Given the description of an element on the screen output the (x, y) to click on. 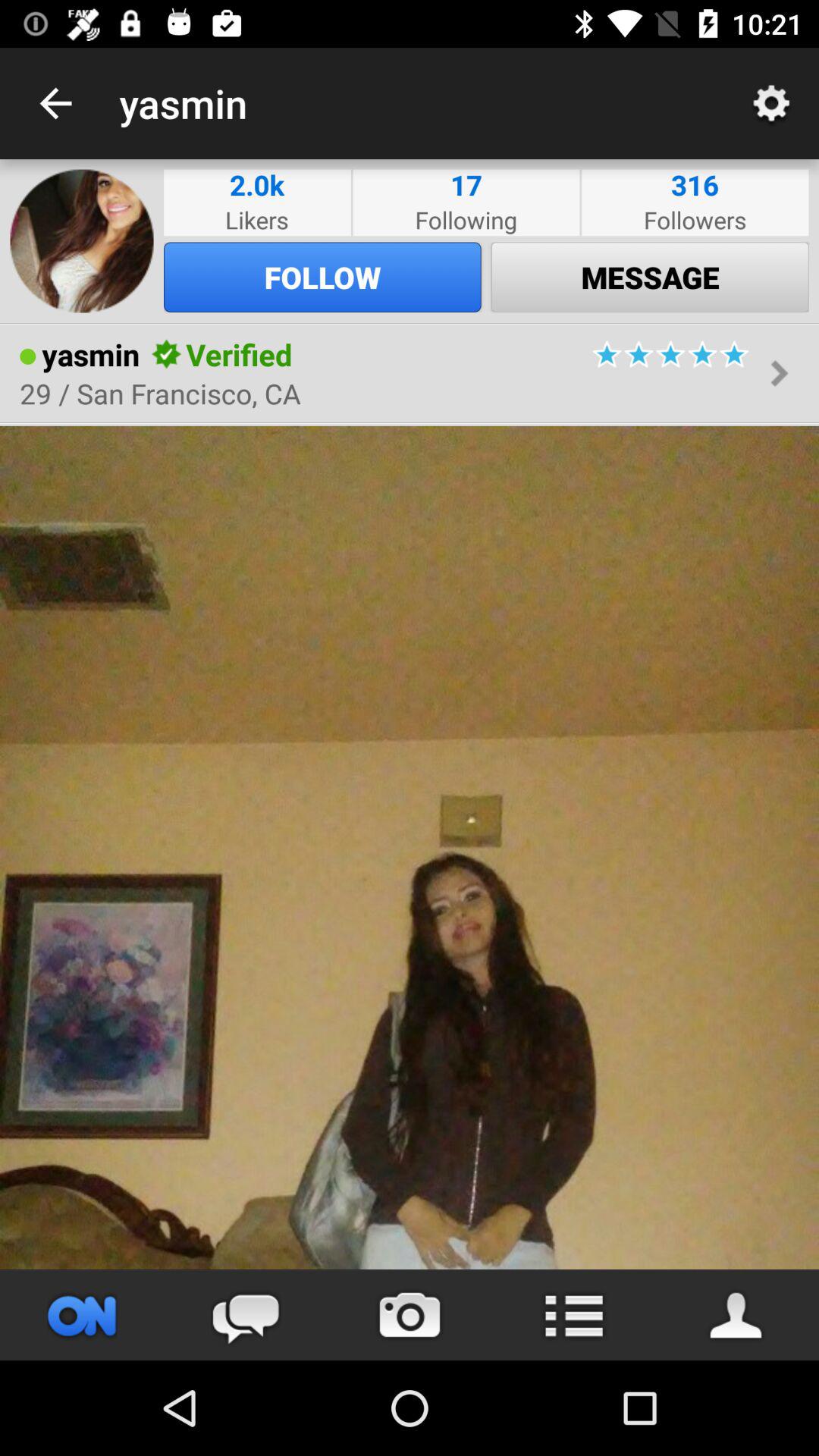
swipe to likers (256, 219)
